Given the description of an element on the screen output the (x, y) to click on. 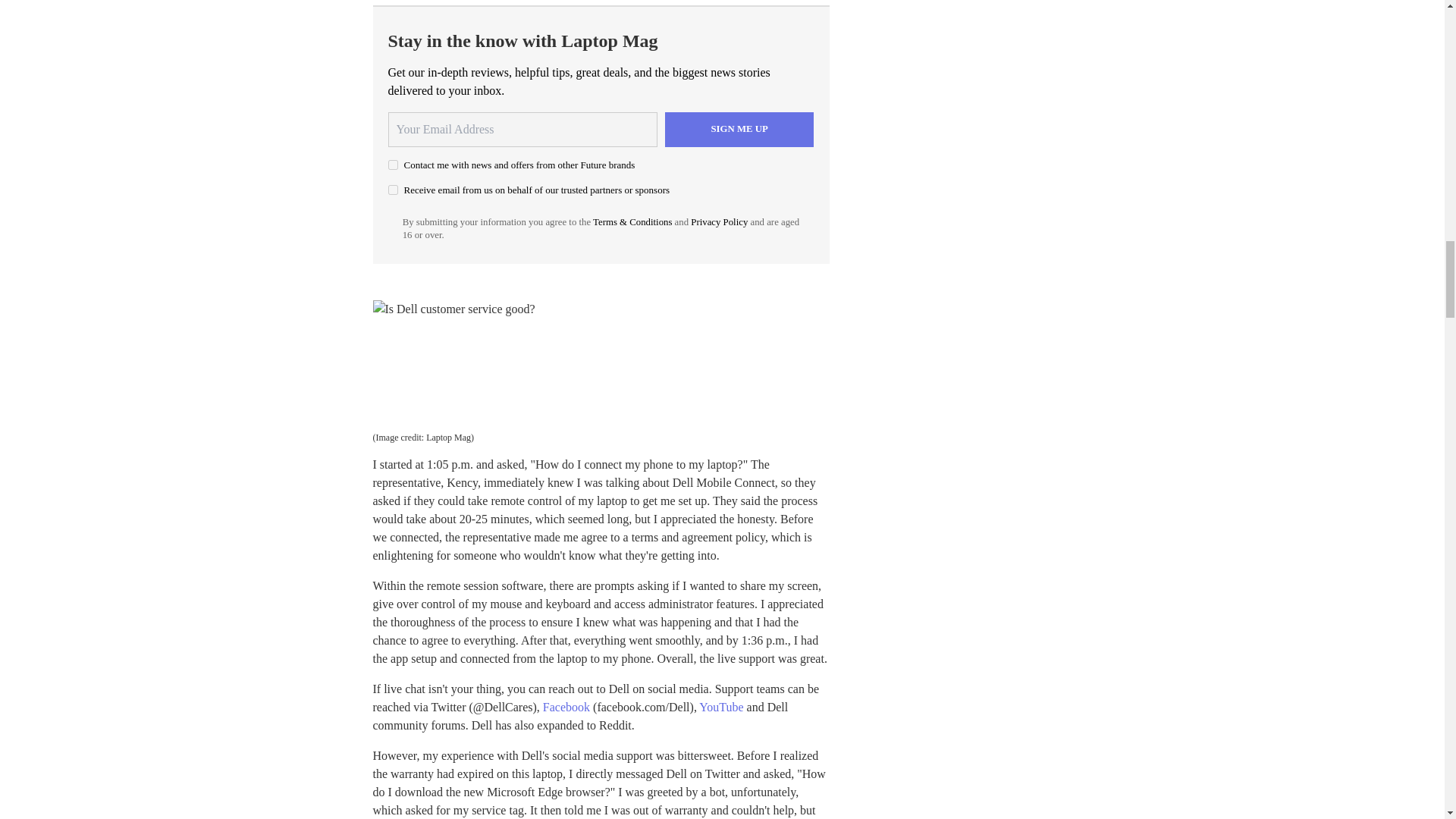
Sign me up (739, 129)
on (392, 164)
on (392, 189)
